Given the description of an element on the screen output the (x, y) to click on. 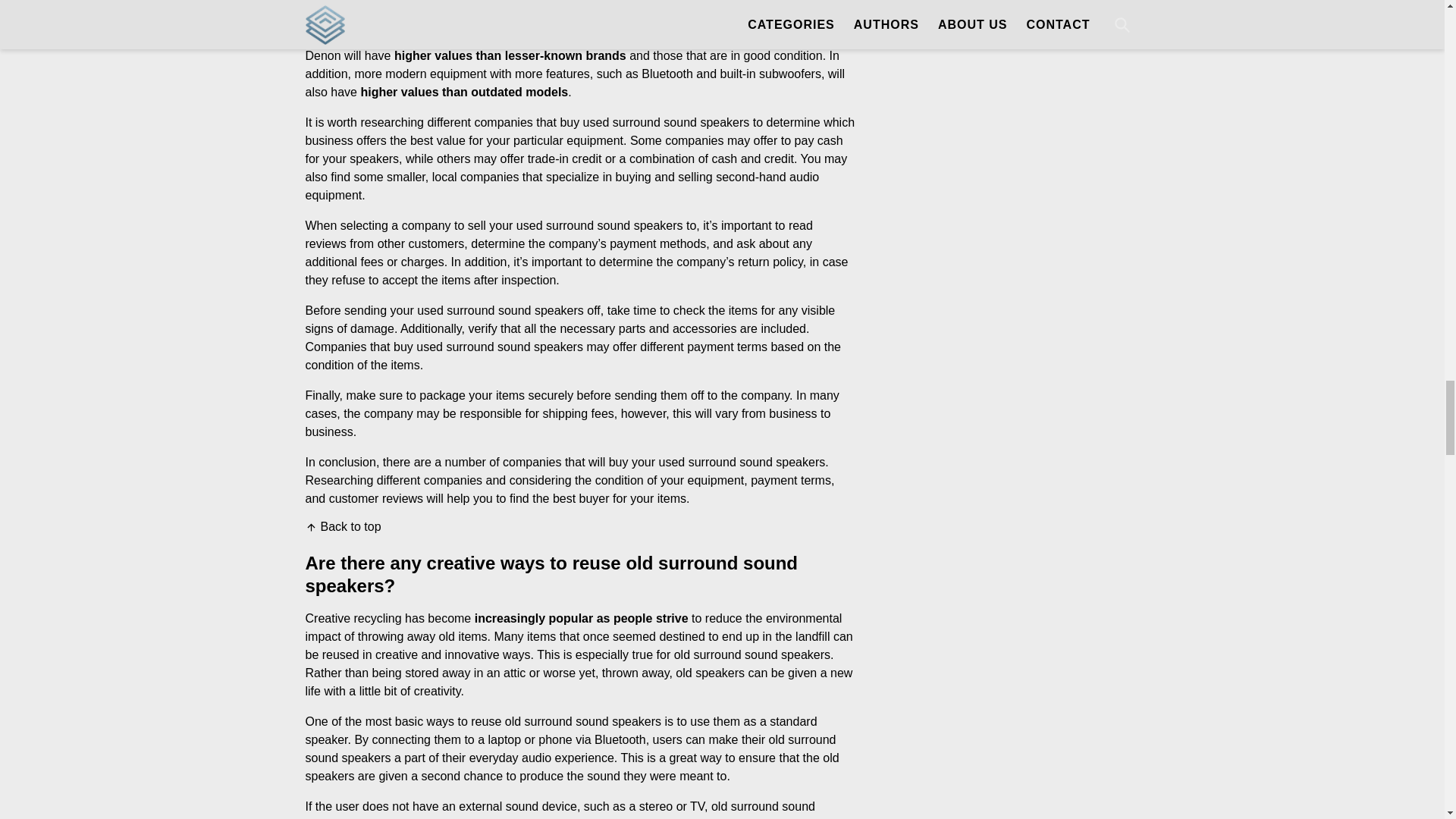
Back to top (342, 526)
